Given the description of an element on the screen output the (x, y) to click on. 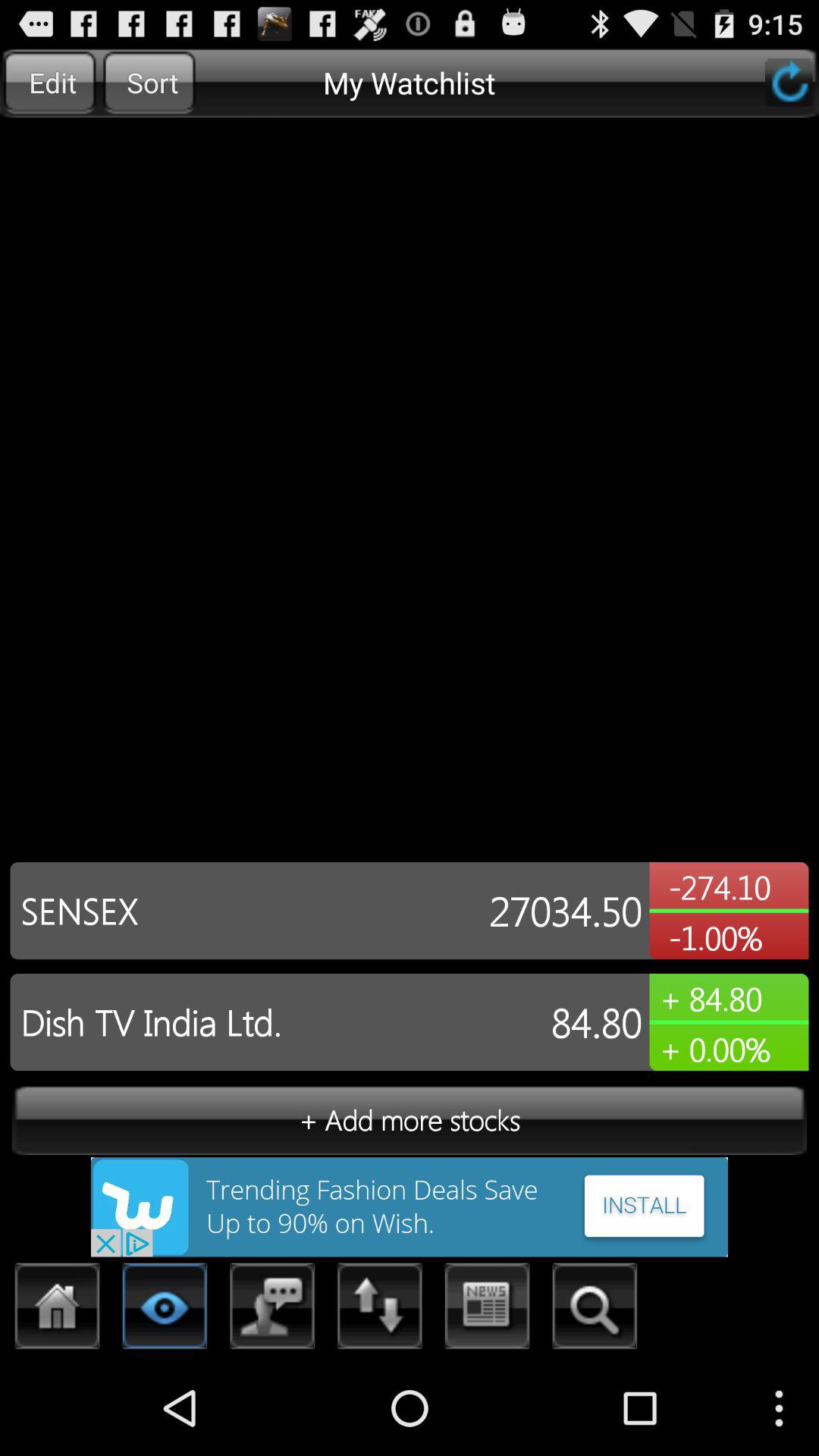
click to chat (272, 1310)
